Given the description of an element on the screen output the (x, y) to click on. 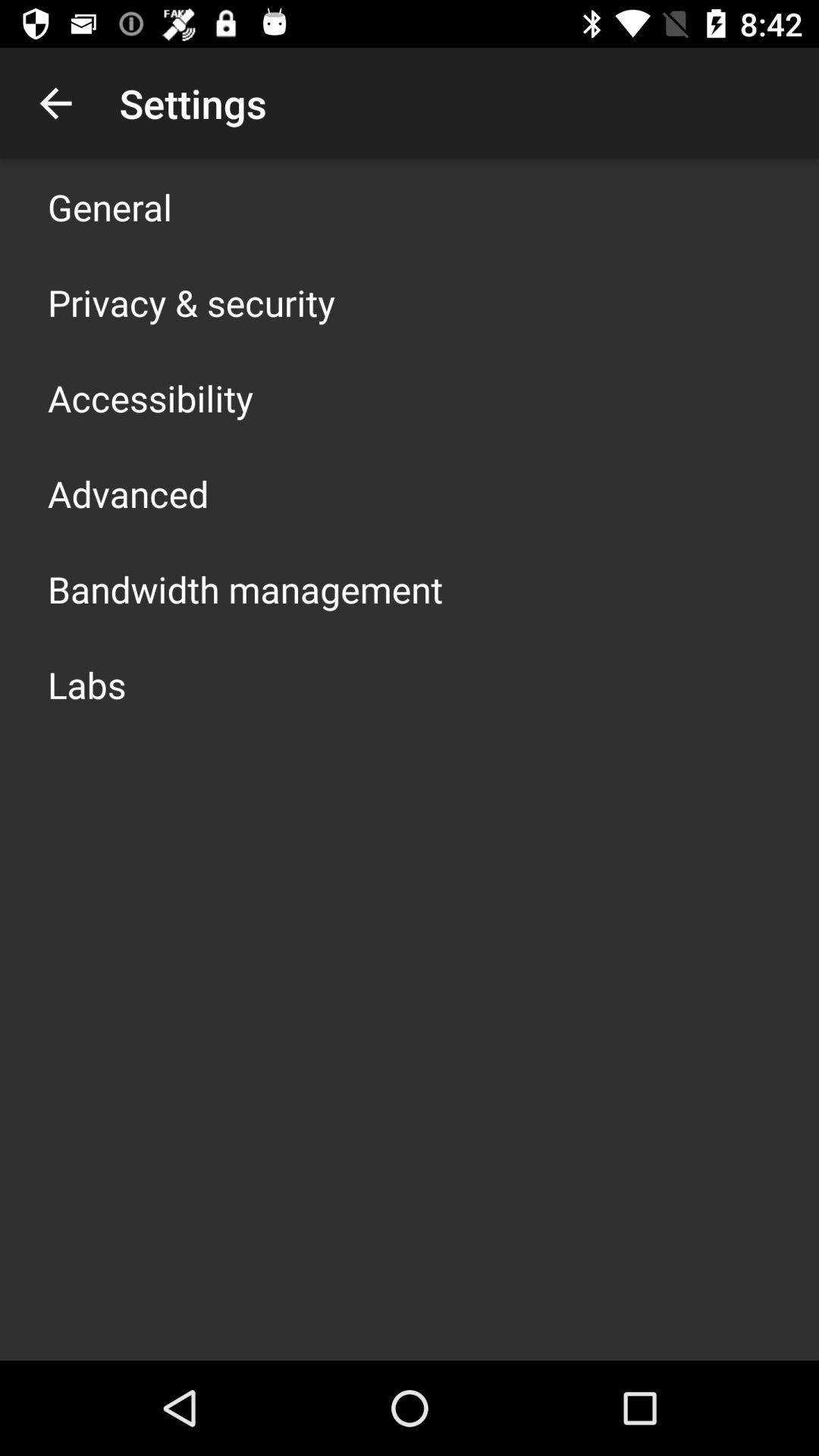
launch the icon above privacy & security icon (109, 206)
